Given the description of an element on the screen output the (x, y) to click on. 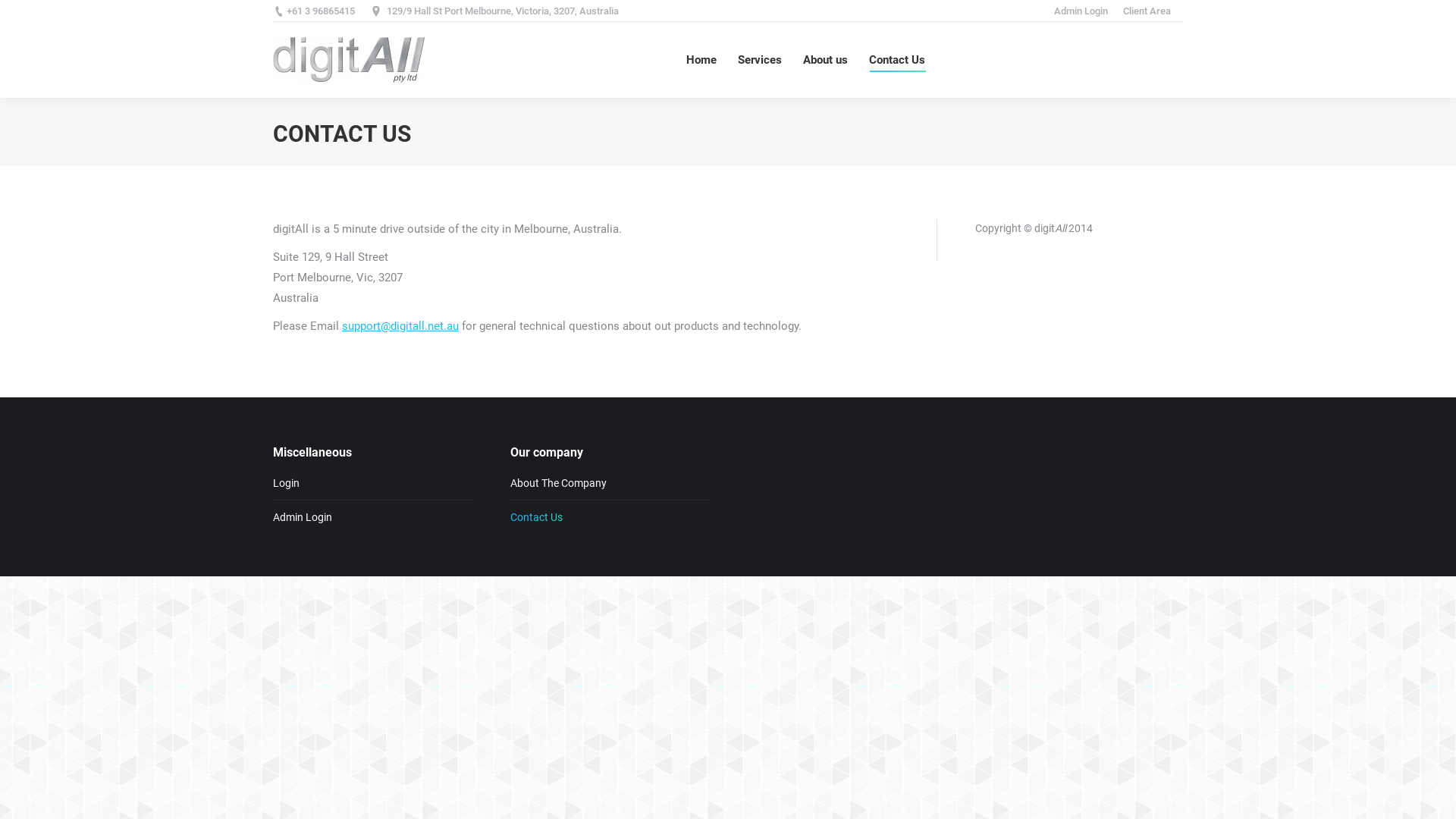
Contact Us Element type: text (541, 517)
Services Element type: text (759, 59)
About The Company Element type: text (563, 482)
Contact Us Element type: text (897, 59)
Login Element type: text (291, 482)
Admin Login Element type: text (308, 517)
Client Area Element type: text (1146, 10)
support@digitall.net.au Element type: text (400, 325)
Home Element type: text (701, 59)
About us Element type: text (825, 59)
Admin Login Element type: text (1080, 10)
